Given the description of an element on the screen output the (x, y) to click on. 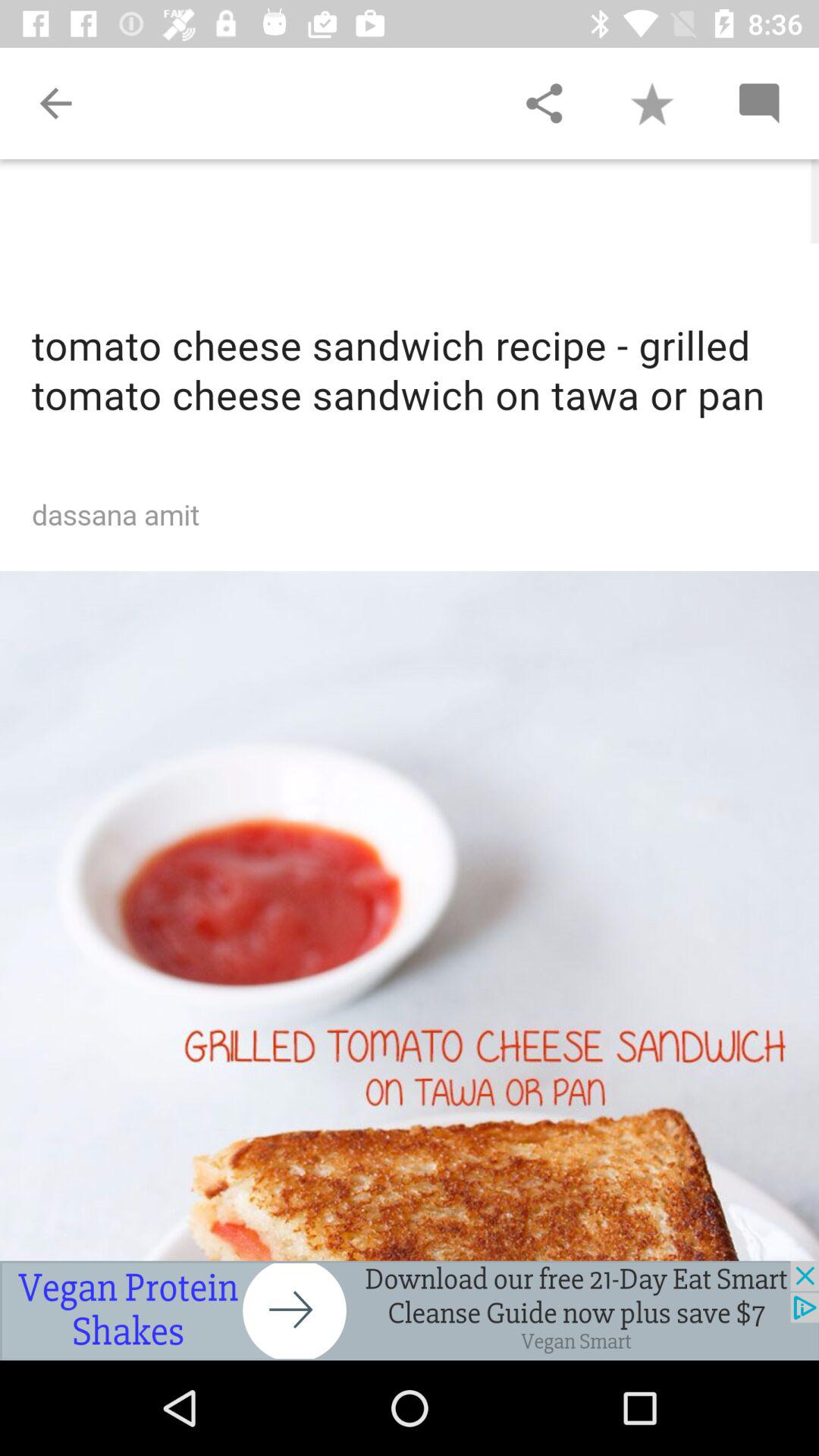
message (758, 103)
